Given the description of an element on the screen output the (x, y) to click on. 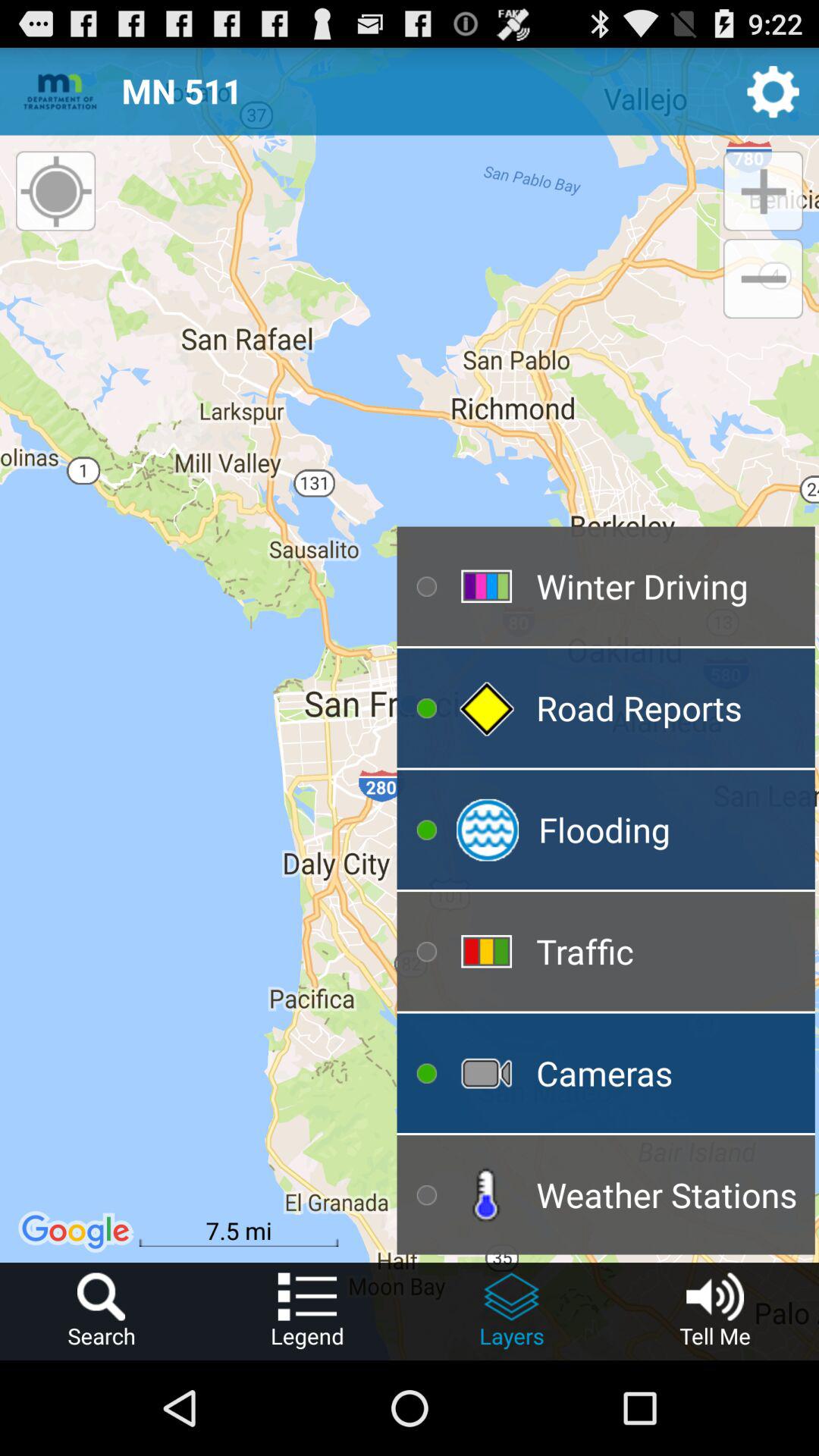
open up settings (773, 91)
